Given the description of an element on the screen output the (x, y) to click on. 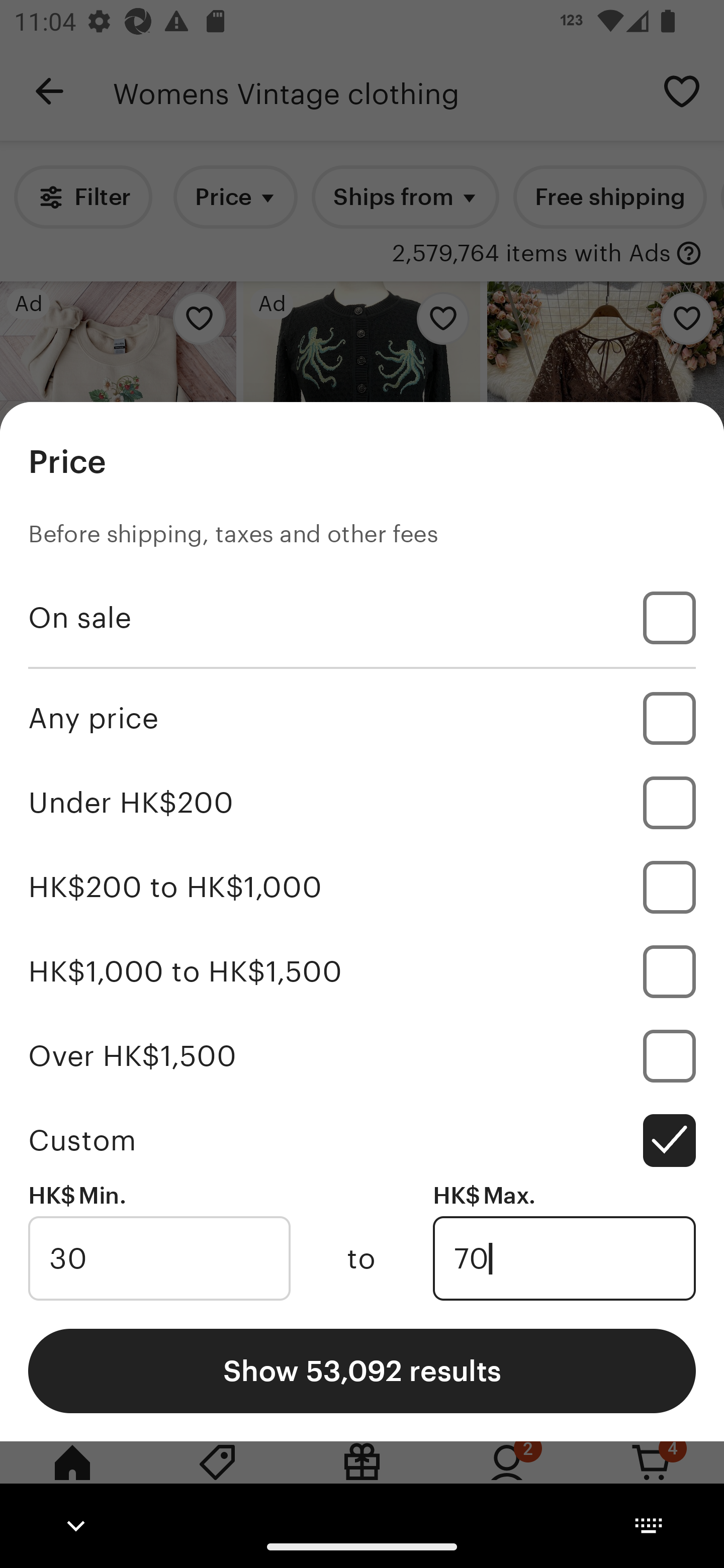
On sale (362, 617)
Any price (362, 717)
Under HK$200 (362, 802)
HK$200 to HK$1,000 (362, 887)
HK$1,000 to HK$1,500 (362, 970)
Over HK$1,500 (362, 1054)
Custom (362, 1139)
30 (159, 1257)
70 (563, 1257)
Show 53,092 results (361, 1370)
